Given the description of an element on the screen output the (x, y) to click on. 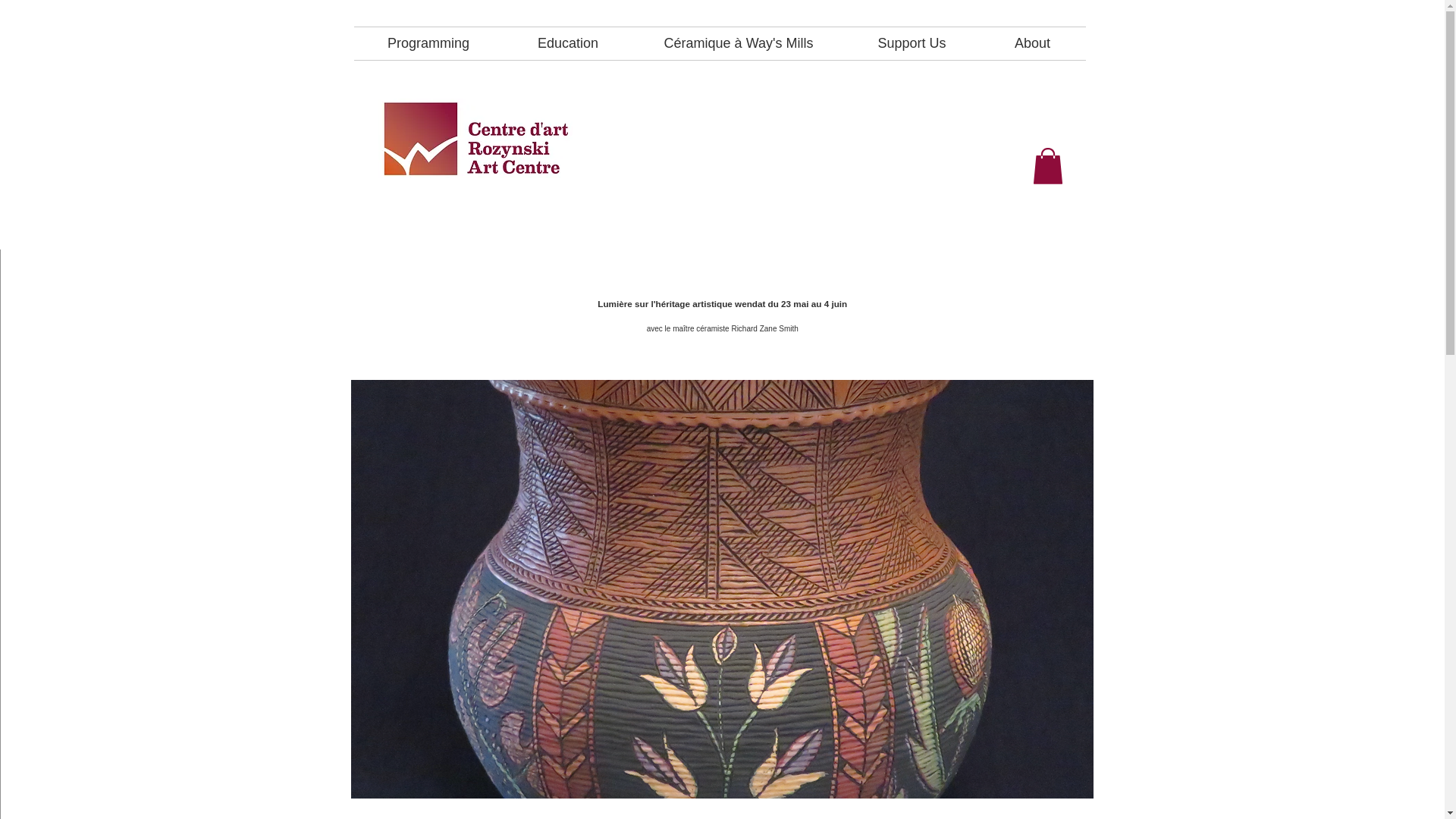
Programming (427, 43)
About (1032, 43)
Education (568, 43)
Support Us (911, 43)
